Given the description of an element on the screen output the (x, y) to click on. 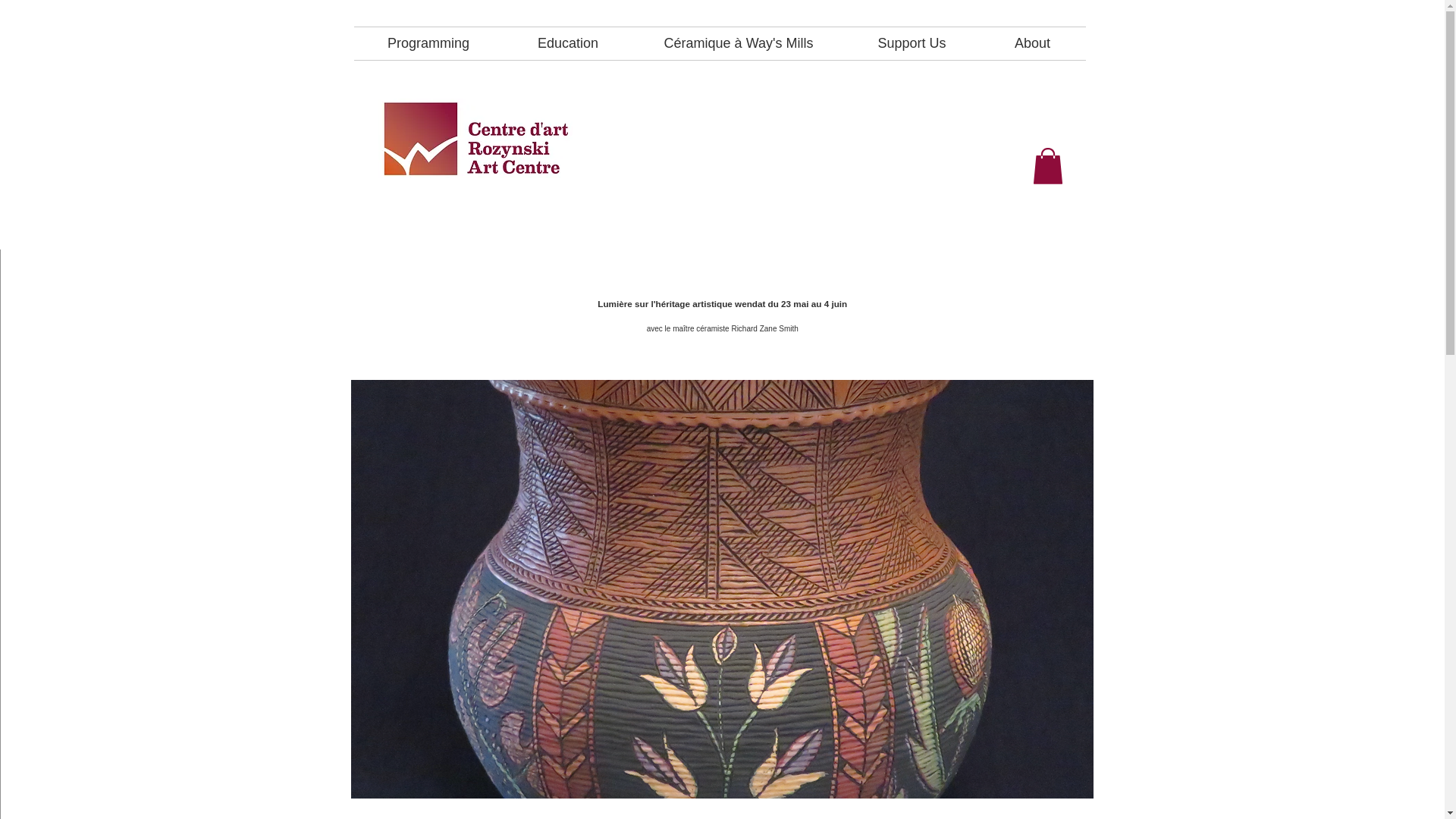
Programming (427, 43)
About (1032, 43)
Education (568, 43)
Support Us (911, 43)
